Given the description of an element on the screen output the (x, y) to click on. 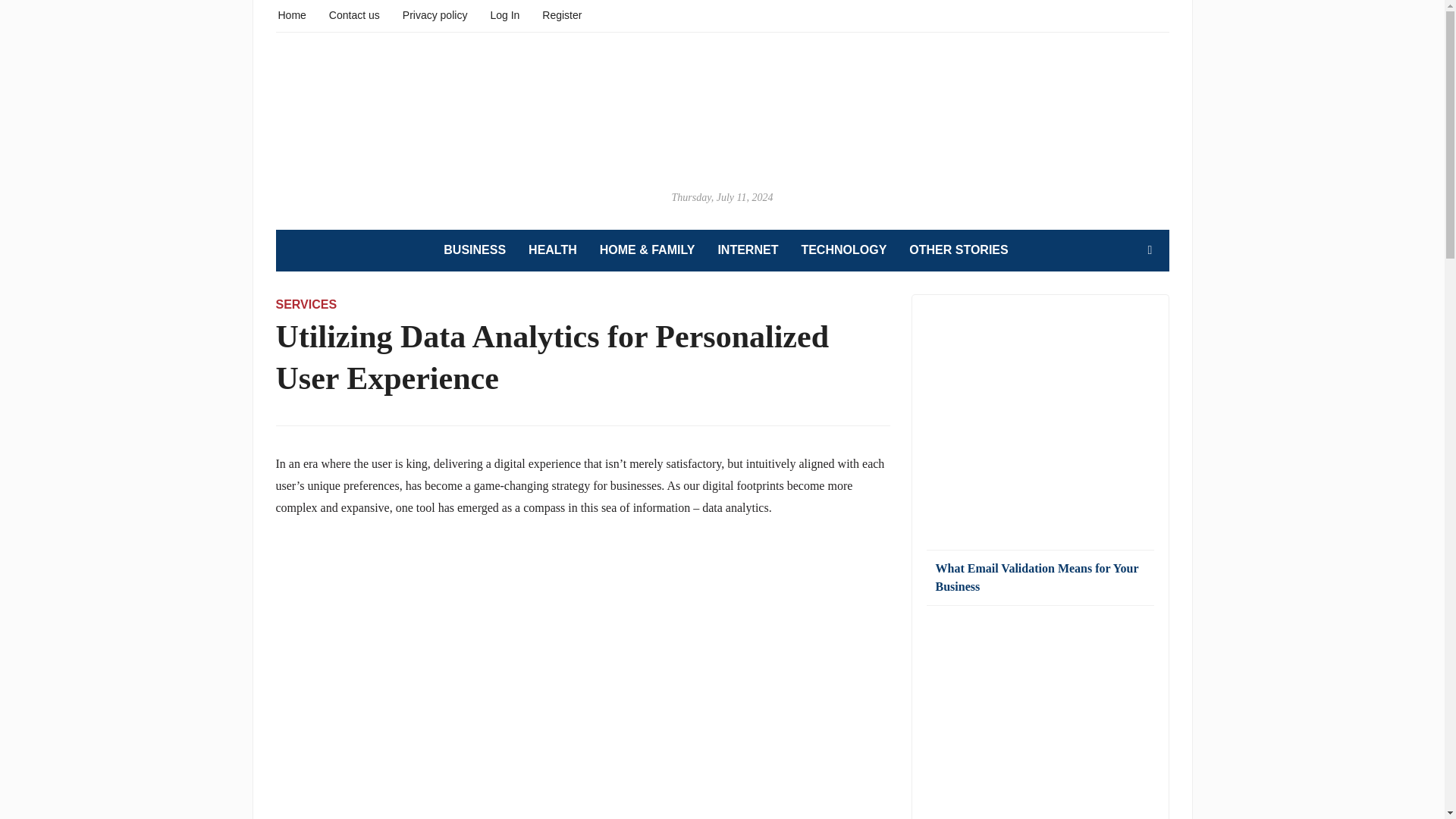
Search (1149, 250)
Register (560, 14)
Contact us (354, 14)
Log In (504, 14)
Home (291, 14)
Privacy policy (435, 14)
